Given the description of an element on the screen output the (x, y) to click on. 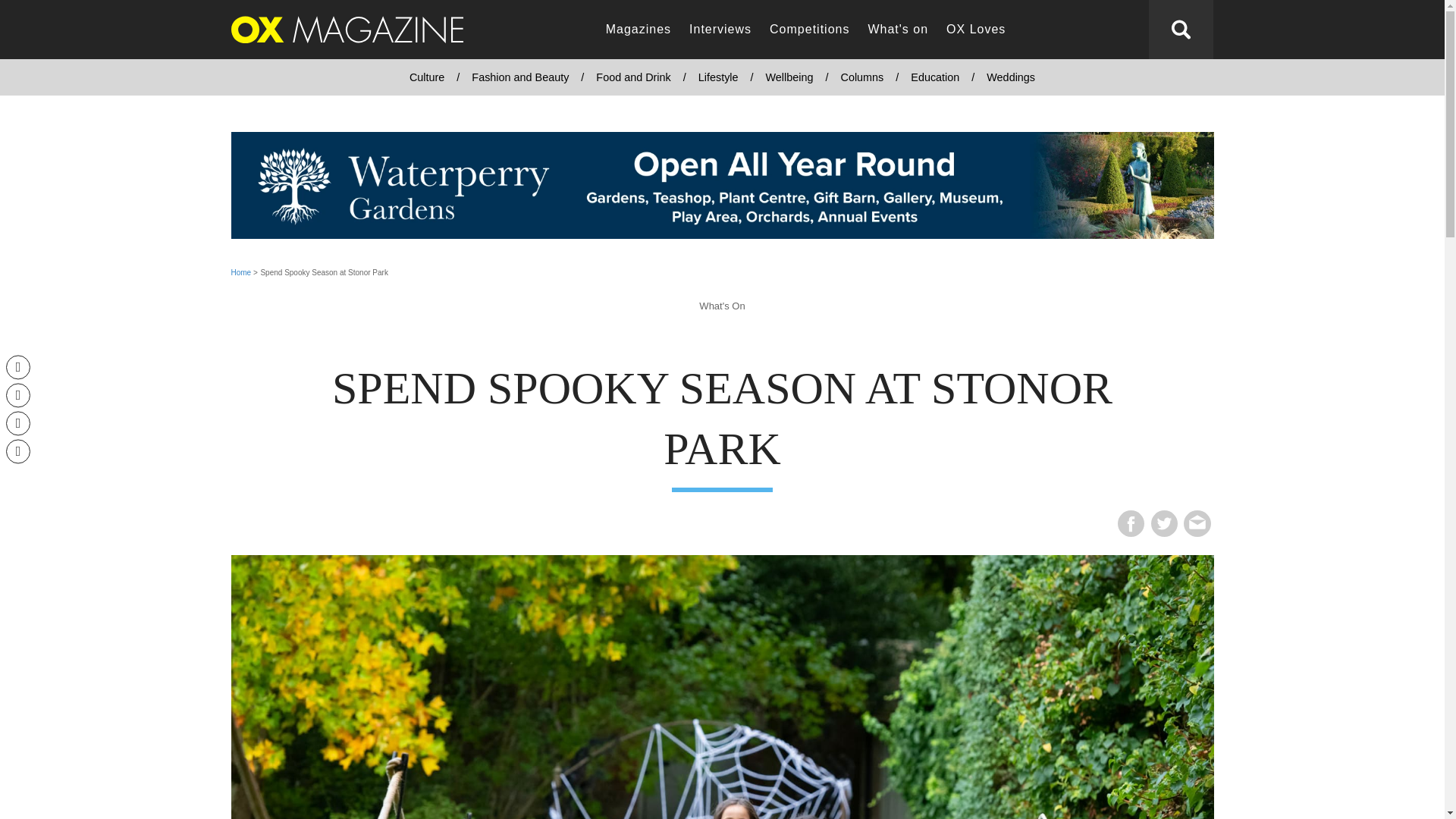
Weddings (1010, 77)
Lifestyle (718, 77)
Competitions (809, 29)
Wellbeing (789, 77)
Interviews (719, 29)
Education (934, 77)
Fashion and Beauty (520, 77)
OX Loves (975, 29)
Culture (427, 77)
Home (240, 272)
